Given the description of an element on the screen output the (x, y) to click on. 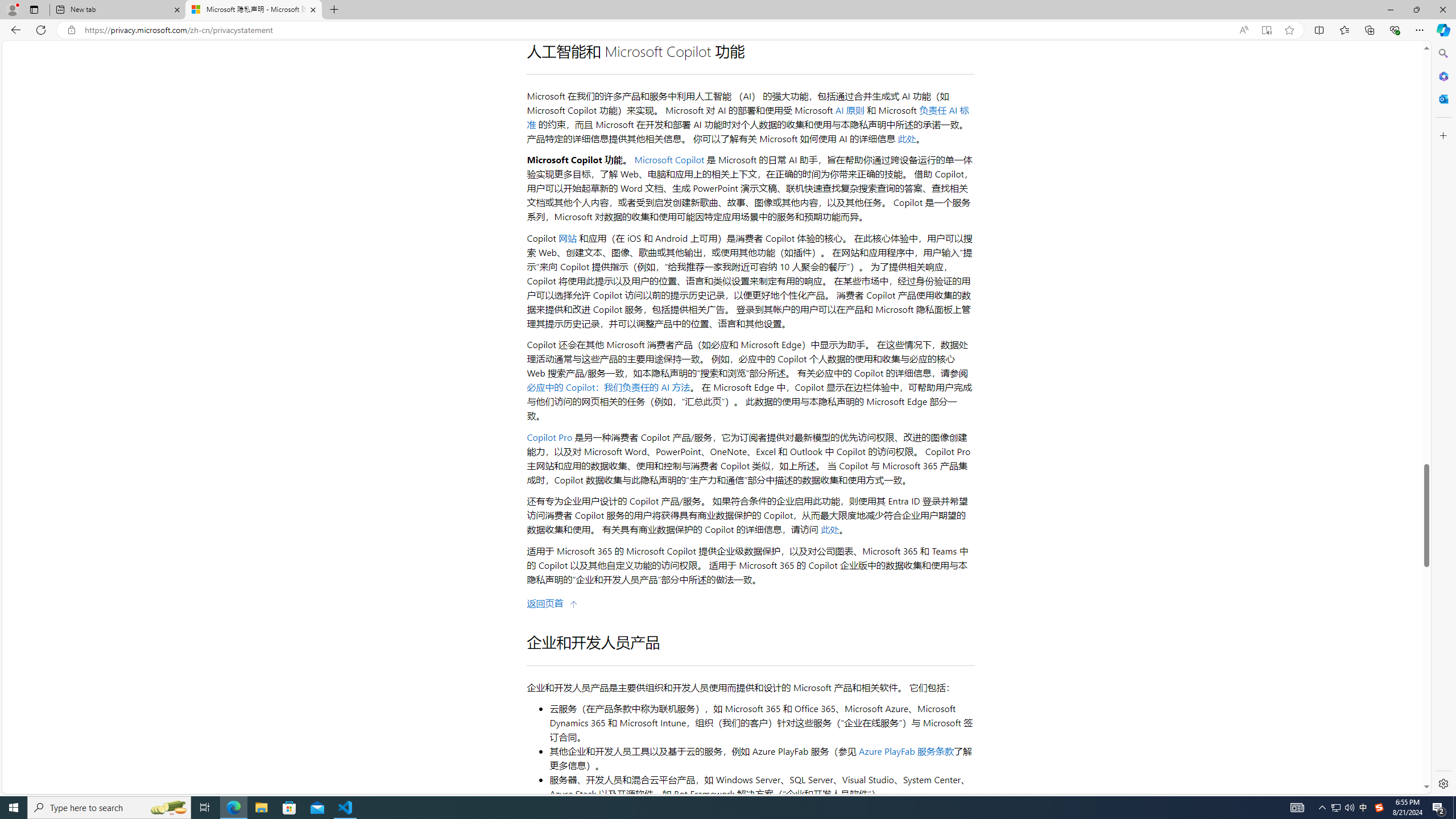
Copilot Pro (549, 436)
Microsoft Copilot (669, 159)
